Given the description of an element on the screen output the (x, y) to click on. 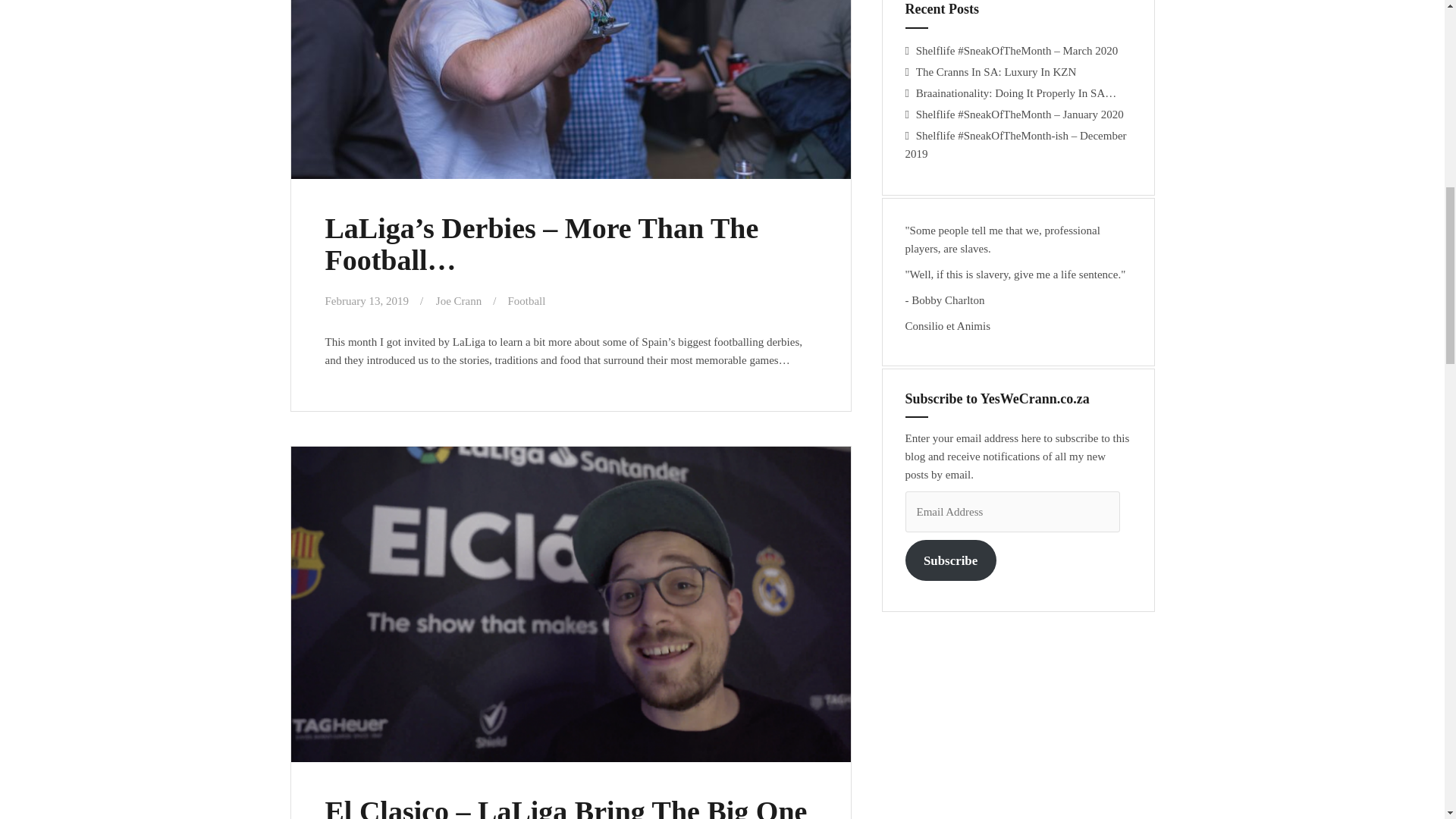
Football (525, 300)
February 13, 2019 (365, 300)
Joe Crann (458, 300)
